Given the description of an element on the screen output the (x, y) to click on. 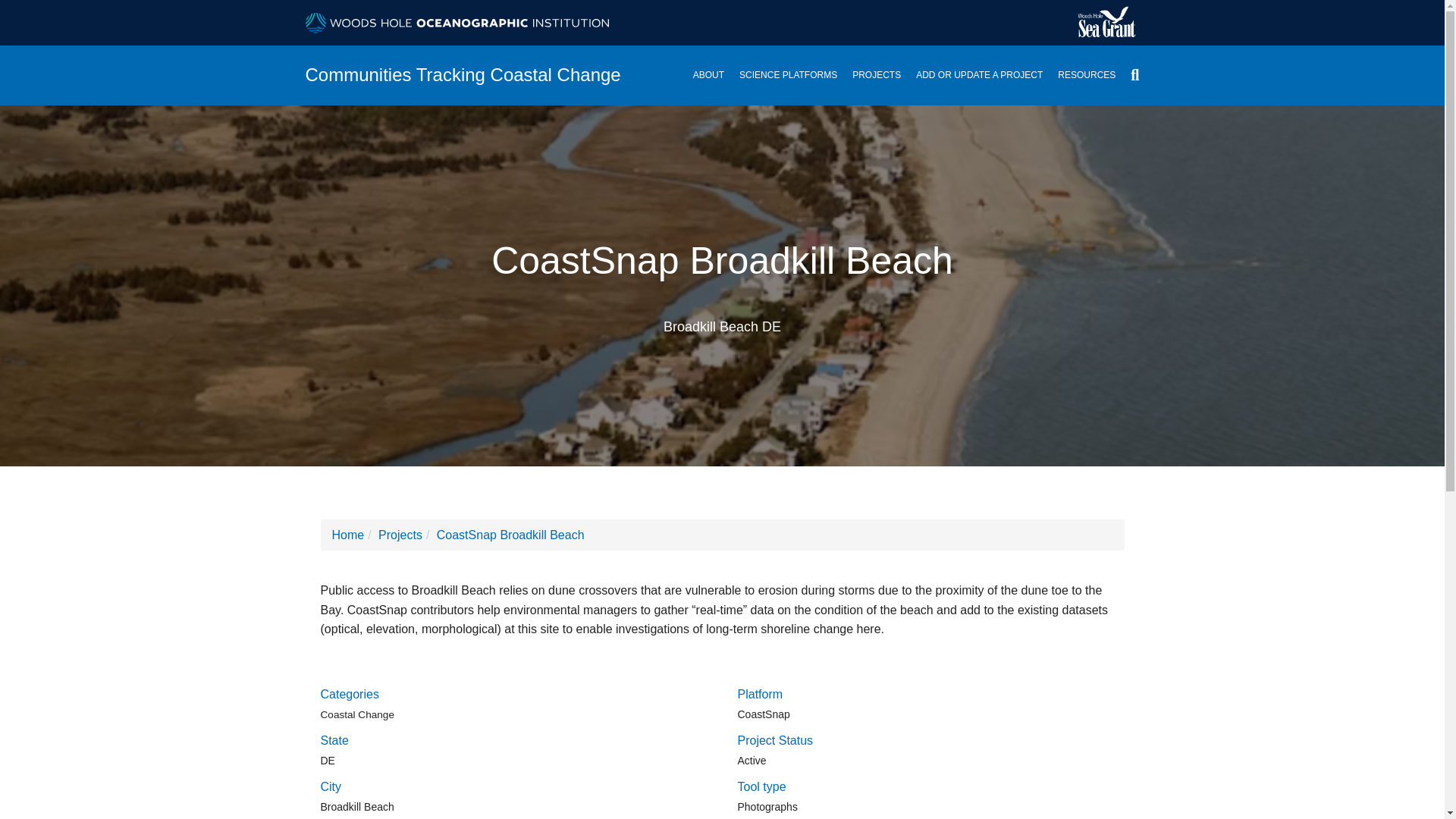
CoastSnap Broadkill Beach (510, 534)
Home (348, 534)
Projects (400, 534)
ABOUT (708, 75)
Communities Tracking Coastal Change (472, 74)
RESOURCES (1085, 75)
SCIENCE PLATFORMS (788, 75)
ADD OR UPDATE A PROJECT (978, 75)
PROJECTS (876, 75)
